Given the description of an element on the screen output the (x, y) to click on. 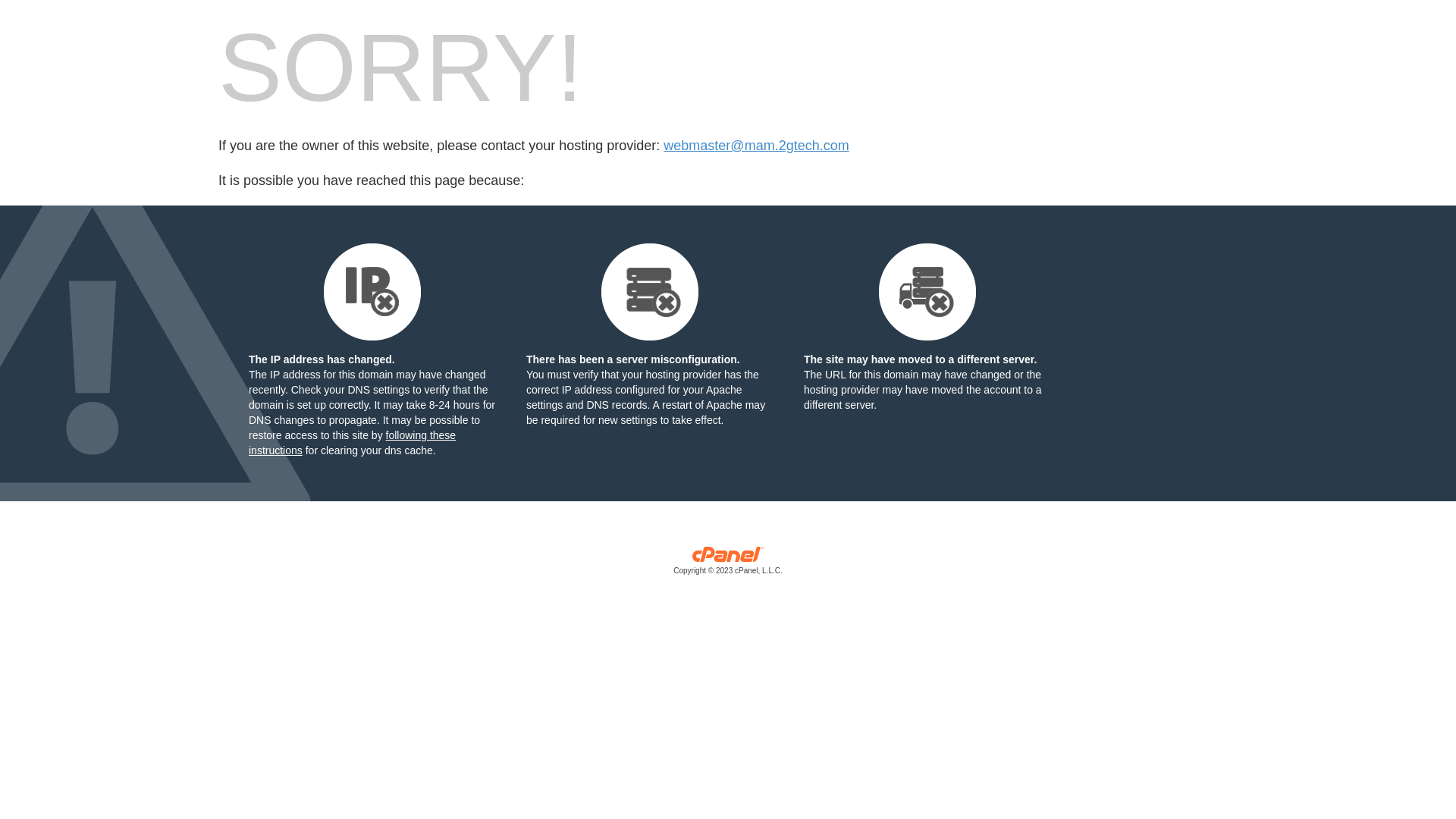
webmaster@mam.2gtech.com Element type: text (755, 145)
following these instructions Element type: text (351, 442)
